Given the description of an element on the screen output the (x, y) to click on. 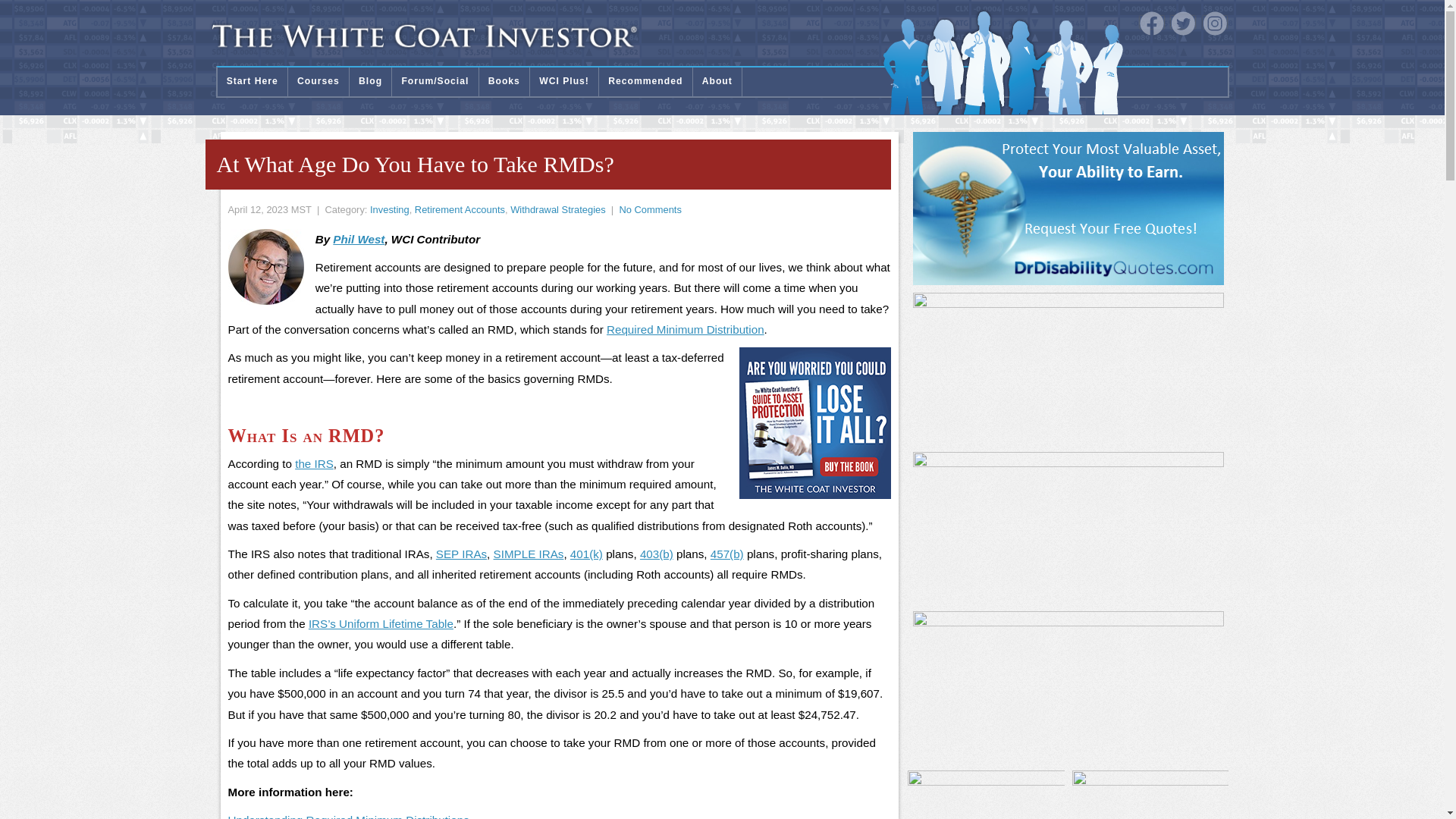
WCI Plus! (563, 81)
Mountain Standard Time (301, 209)
Facebook (1151, 23)
Blog (370, 81)
Courses (318, 81)
Instagram (1214, 23)
Books (504, 81)
Start Here (251, 81)
Twitter (1182, 23)
